Given the description of an element on the screen output the (x, y) to click on. 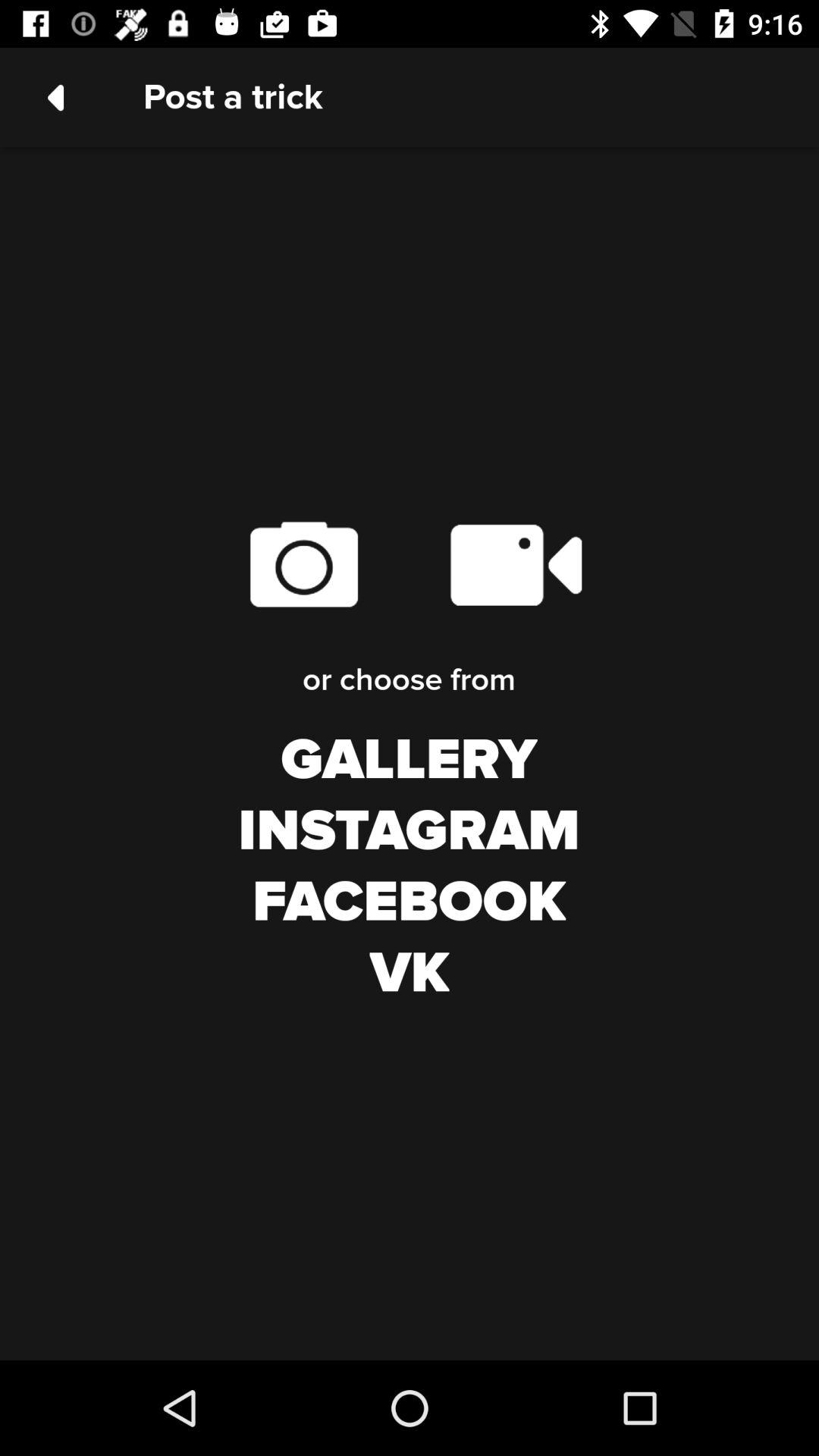
select video camera (515, 564)
